Given the description of an element on the screen output the (x, y) to click on. 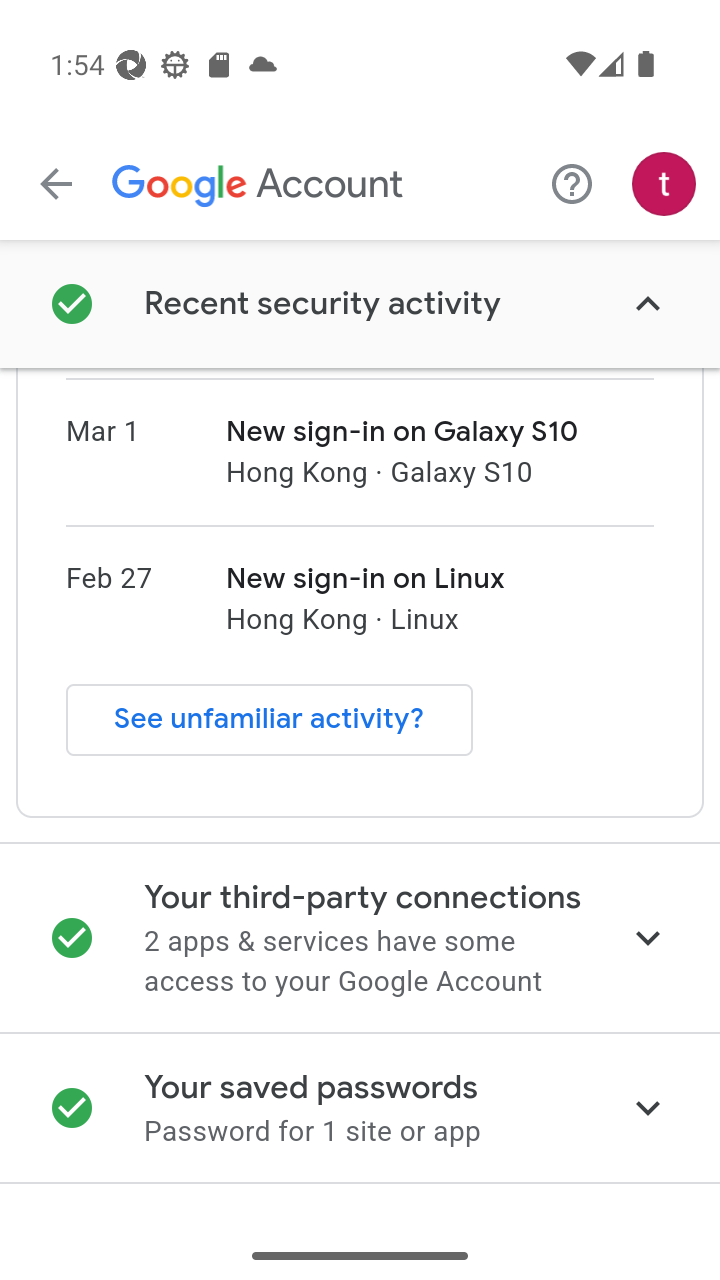
Navigate up (56, 184)
Help & feedback (571, 183)
No issues found in recent account activity (360, 304)
See unfamiliar activity? (269, 719)
Your saved passwords Password for 1 site or app (360, 1107)
